Given the description of an element on the screen output the (x, y) to click on. 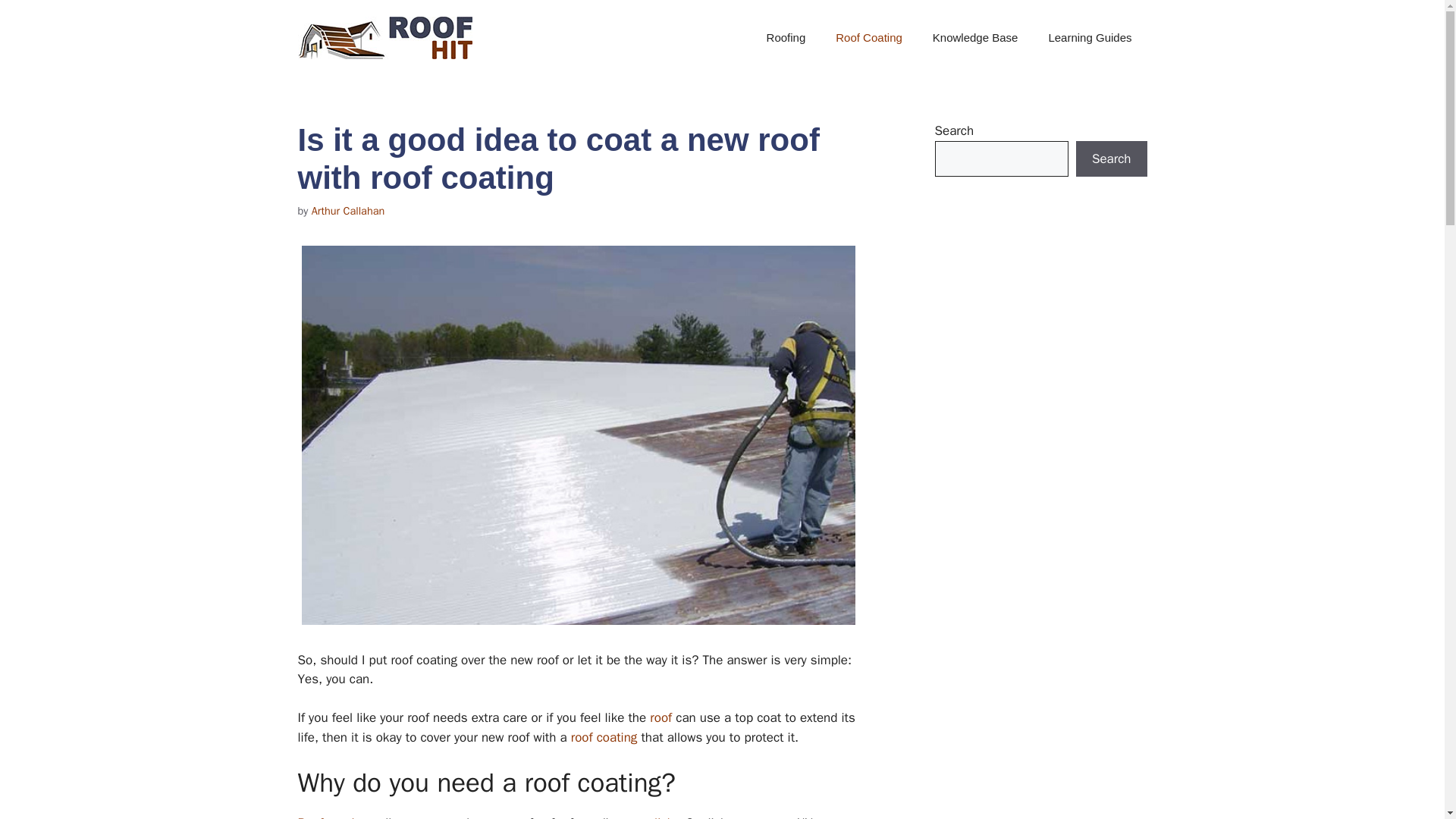
Learning Guides (1089, 37)
Arthur Callahan (348, 210)
sunlight (655, 816)
Roofing (786, 37)
roof coating (603, 737)
Roof Coating (869, 37)
View all posts by Arthur Callahan (348, 210)
roof (660, 717)
Roof coatings (335, 816)
Search (1111, 158)
